Given the description of an element on the screen output the (x, y) to click on. 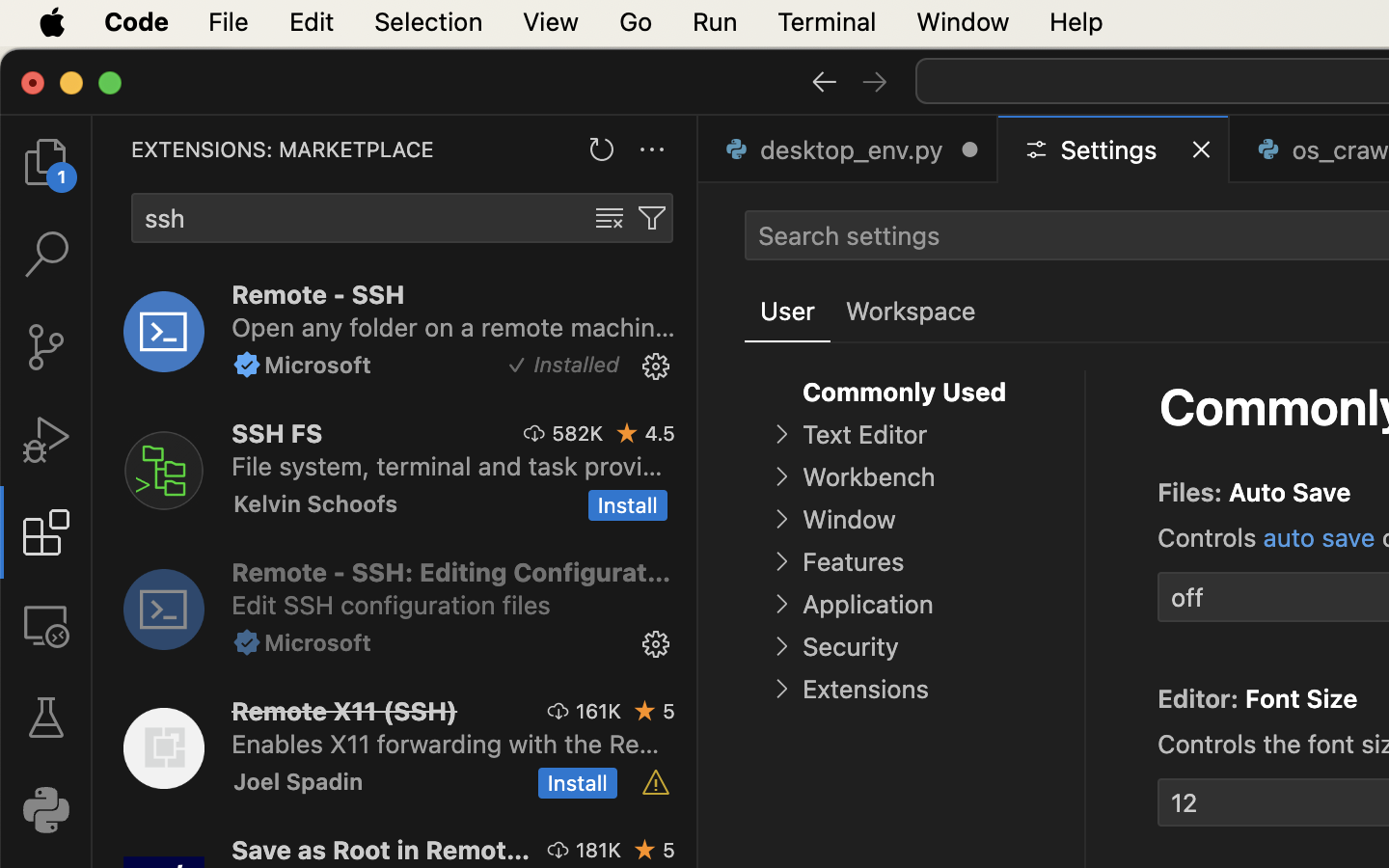
EXTENSIONS: MARKETPLACE Element type: AXStaticText (282, 149)
Remote - SSH: Editing Configuration Files Element type: AXStaticText (451, 571)
Extensions Element type: AXStaticText (865, 689)
 Element type: AXStaticText (655, 782)
Kelvin Schoofs Element type: AXStaticText (316, 502)
